Given the description of an element on the screen output the (x, y) to click on. 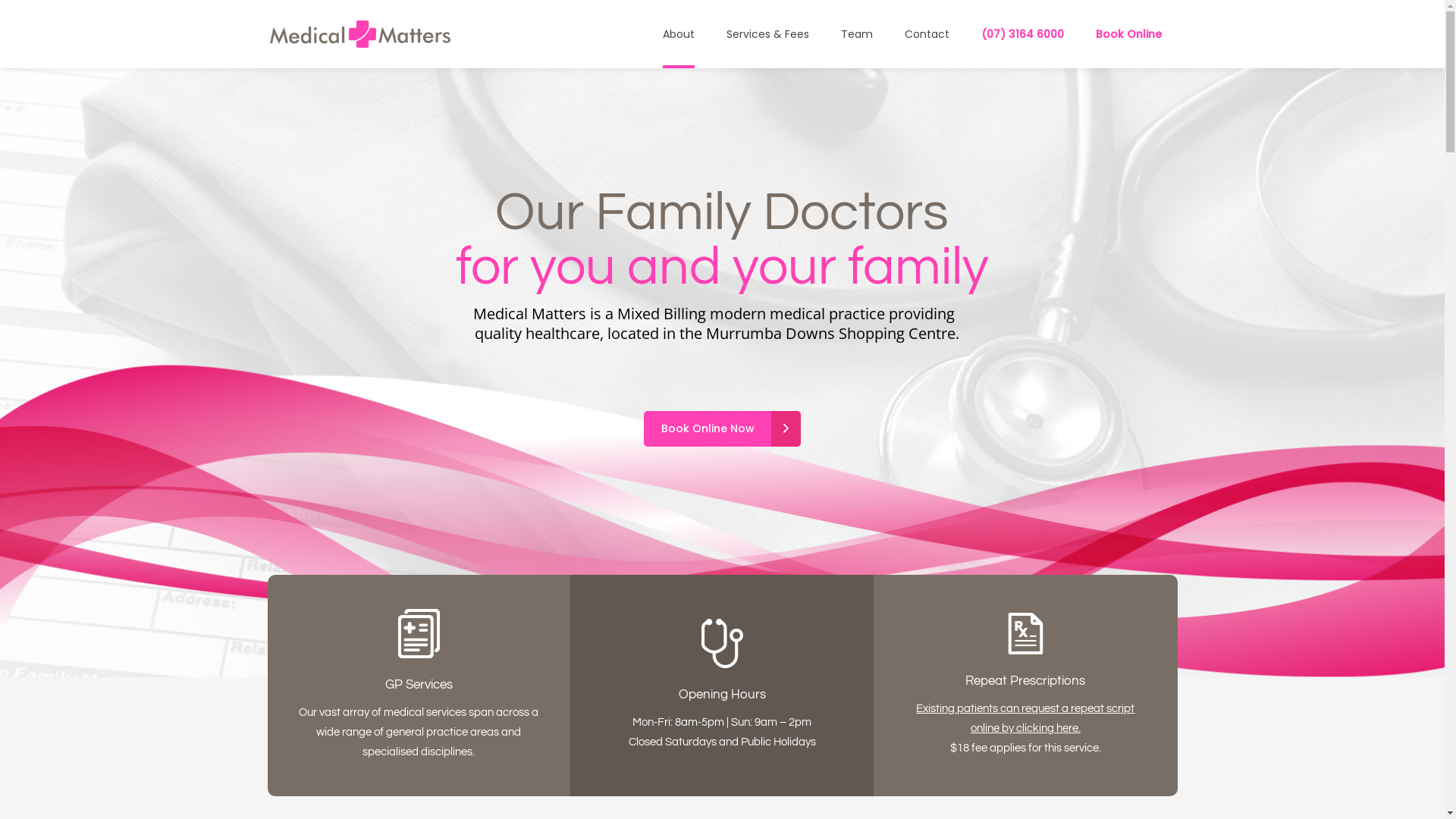
Contact Element type: text (926, 34)
(07) 3164 6000 Element type: text (1021, 34)
About Element type: text (677, 34)
Book Online Now Element type: text (721, 428)
Team Element type: text (856, 34)
Services & Fees Element type: text (766, 34)
Book Online Element type: text (1128, 34)
